Given the description of an element on the screen output the (x, y) to click on. 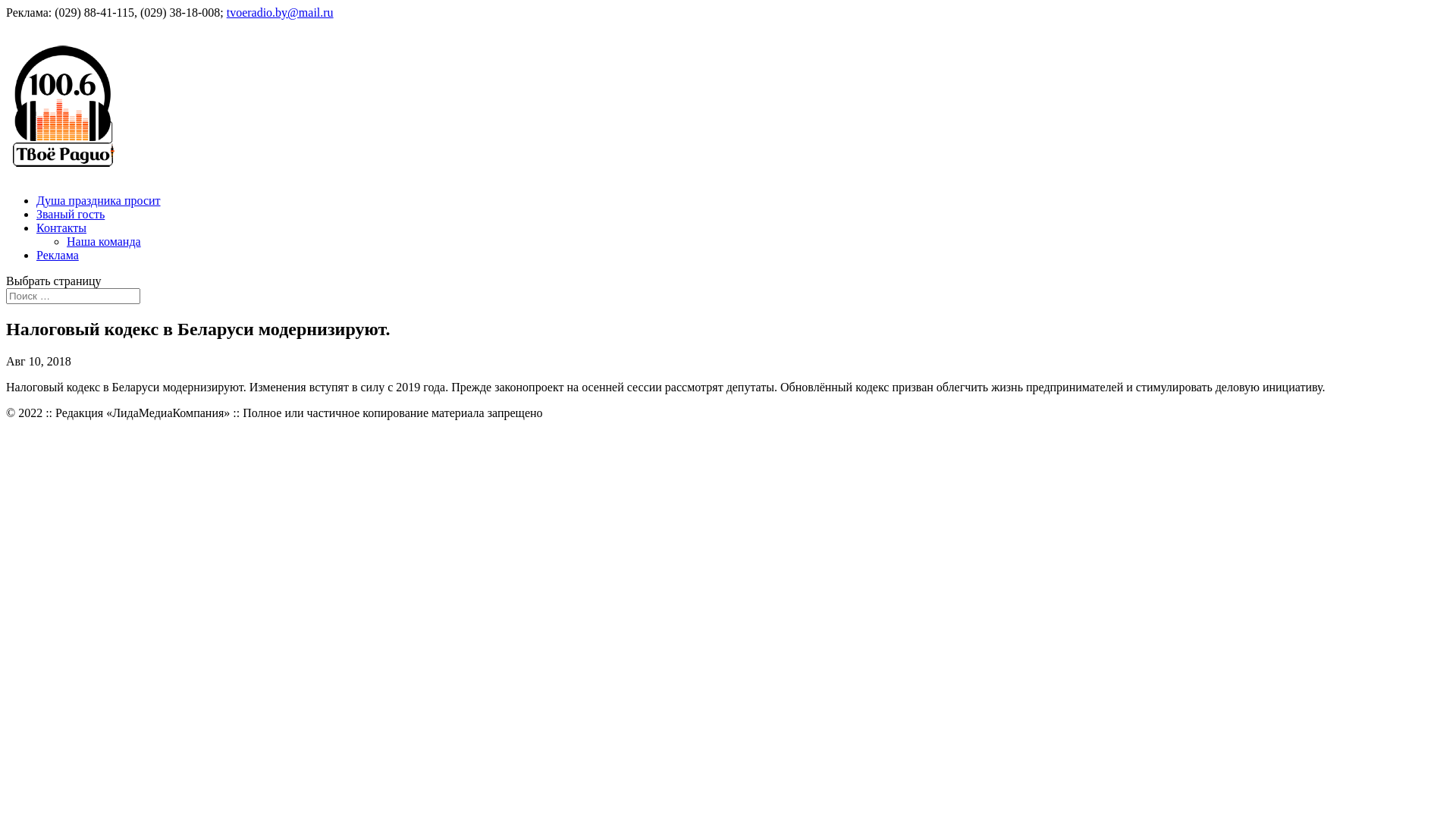
tvoeradio.by@mail.ru Element type: text (279, 12)
